Given the description of an element on the screen output the (x, y) to click on. 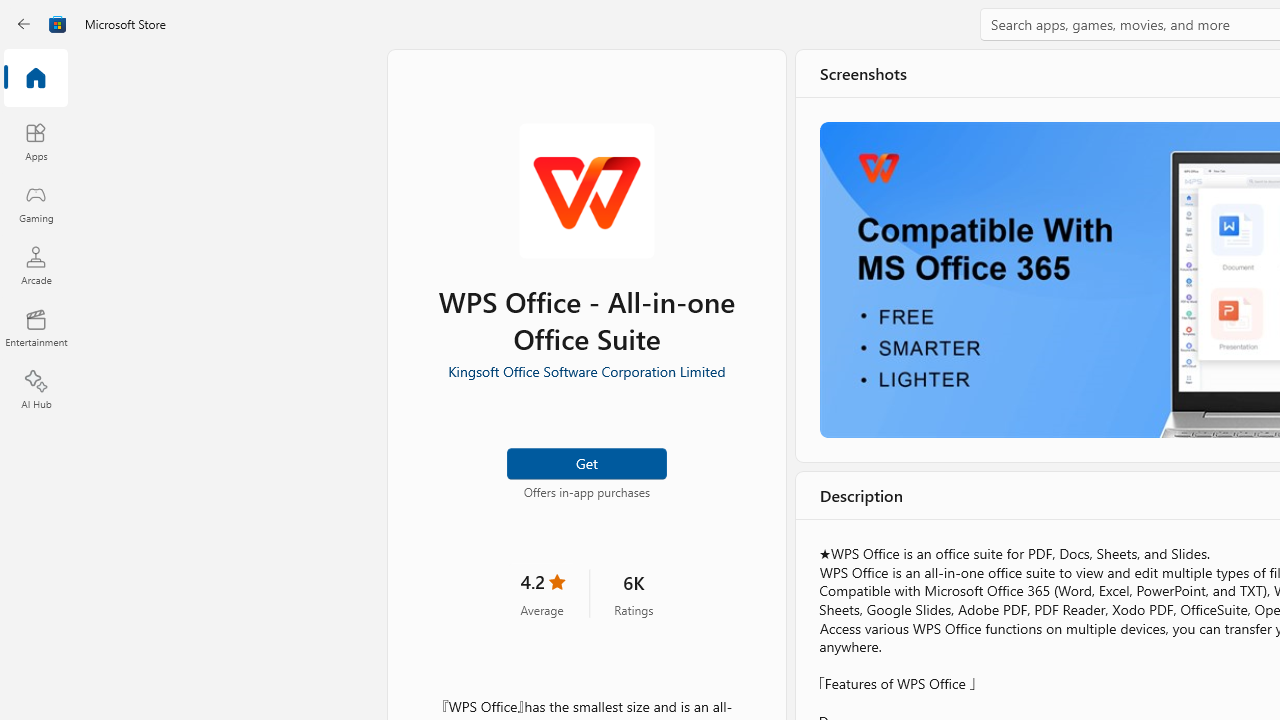
Back (24, 24)
Get (586, 462)
Kingsoft Office Software Corporation Limited (586, 369)
4.2 stars. Click to skip to ratings and reviews (542, 592)
